Given the description of an element on the screen output the (x, y) to click on. 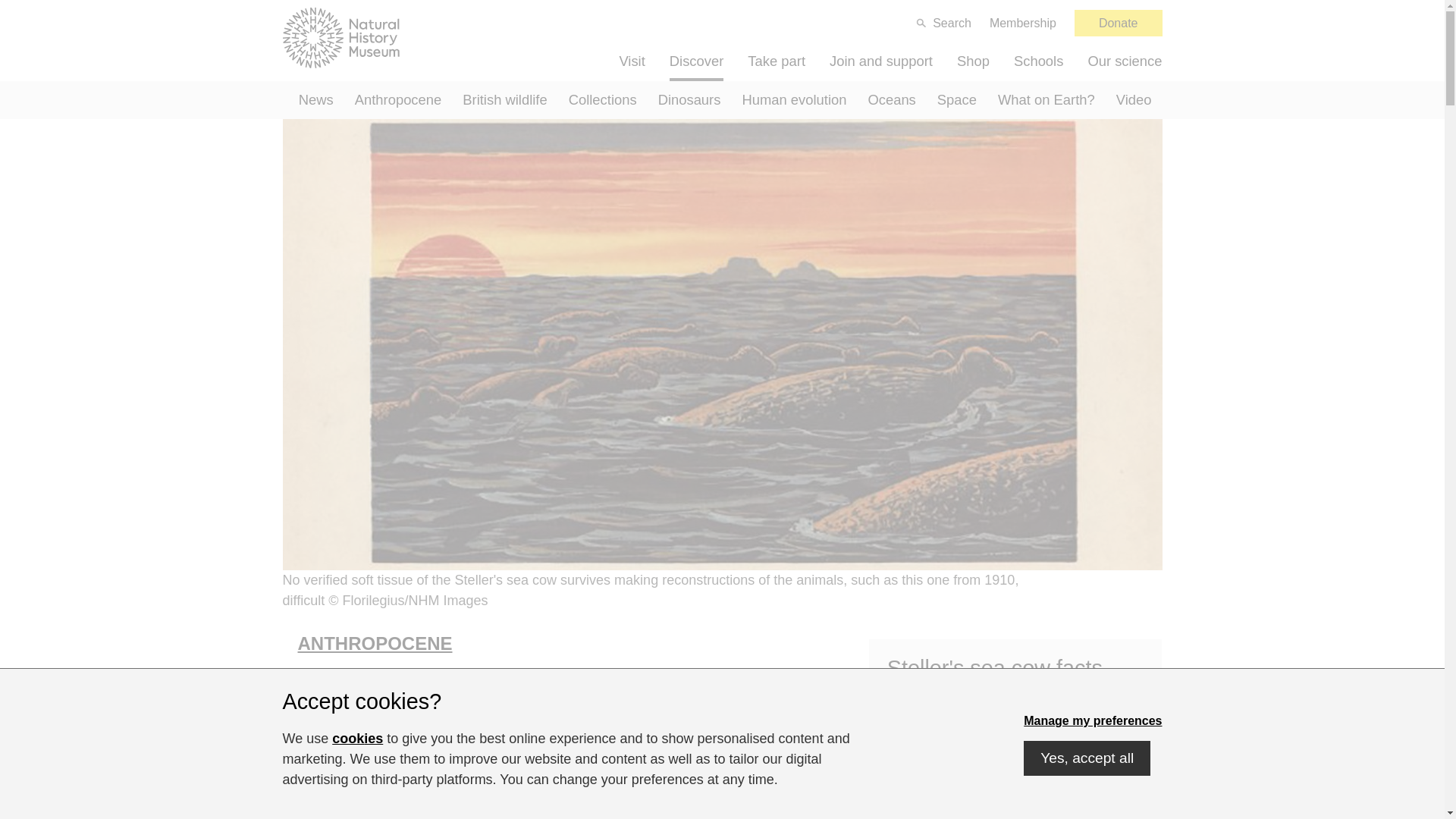
Anthropocene (397, 99)
Oceans (891, 99)
Discover (696, 60)
Accept All cookies (1086, 758)
Dinosaurs (689, 99)
Video (1133, 99)
News (315, 99)
Yes, accept all (1086, 758)
Take part (776, 60)
Manage my preferences (1092, 720)
